Given the description of an element on the screen output the (x, y) to click on. 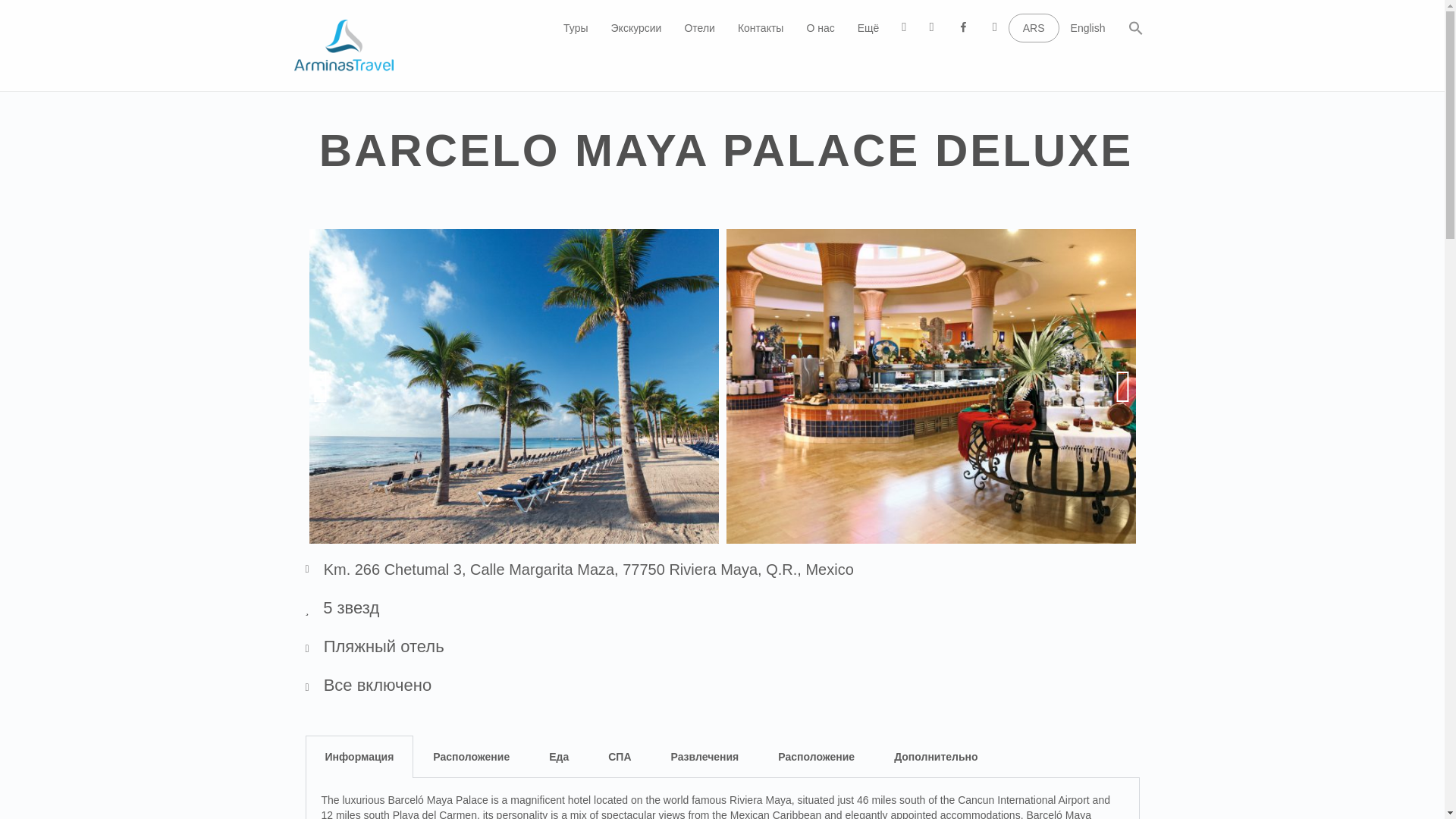
English (1087, 27)
